Given the description of an element on the screen output the (x, y) to click on. 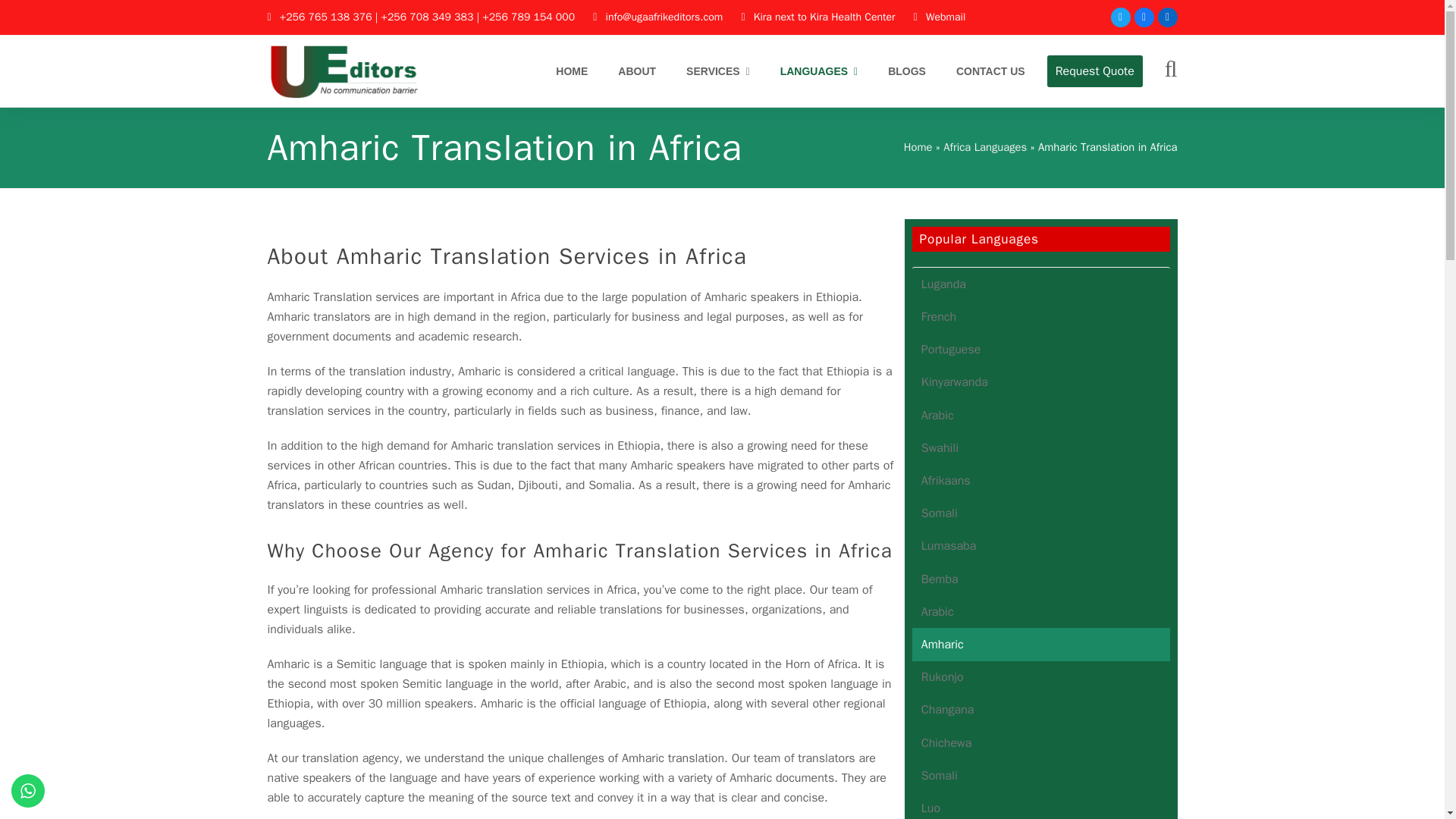
SERVICES (718, 71)
Webmail (945, 16)
WhatsApp Us (28, 790)
Twitter (1119, 17)
LinkedIn (1166, 17)
Facebook (1144, 17)
HOME (571, 71)
ABOUT (636, 71)
LANGUAGES (818, 71)
